Given the description of an element on the screen output the (x, y) to click on. 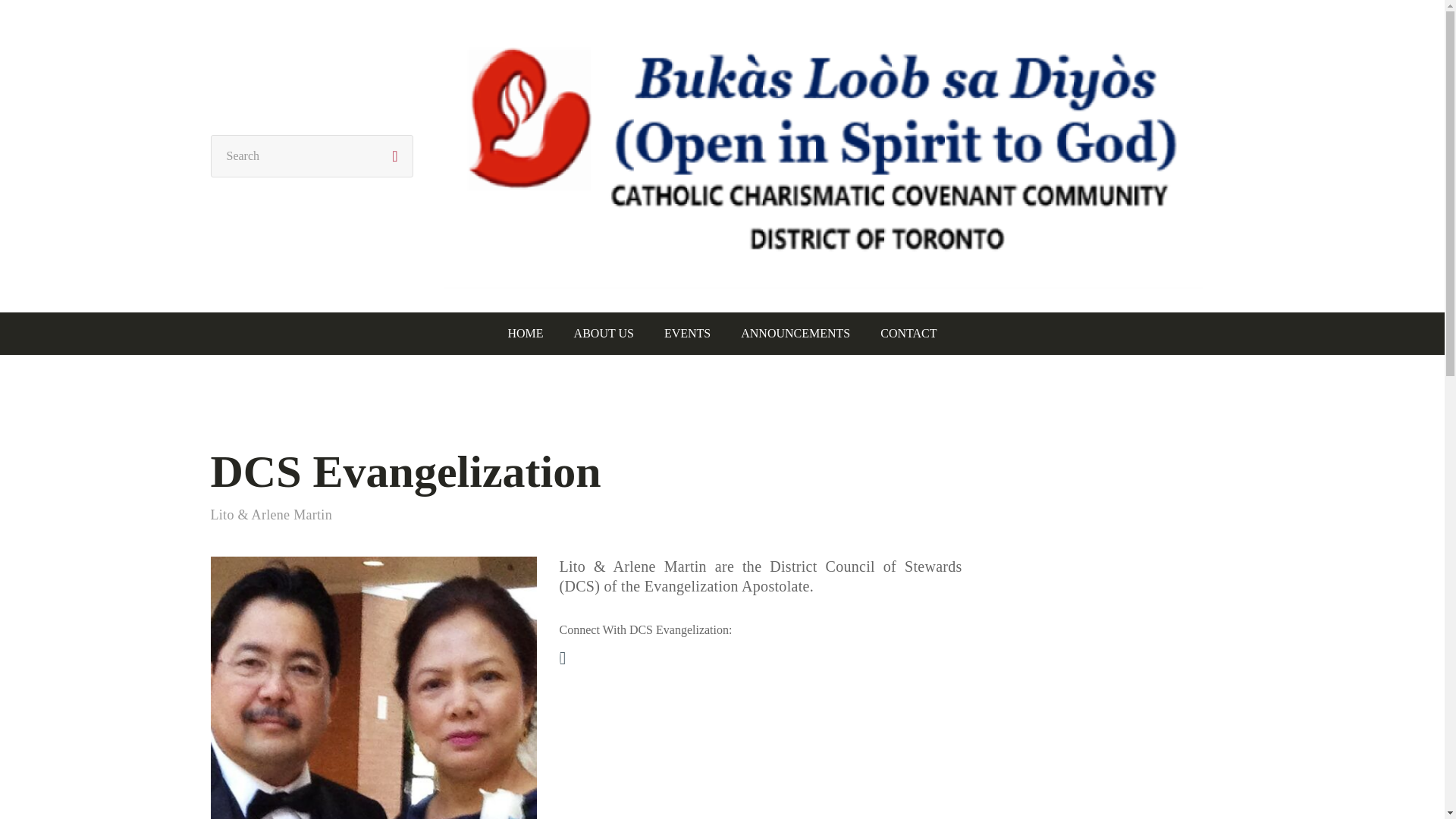
EVENTS (686, 333)
BLD Toronto - Official website (823, 32)
ABOUT US (603, 333)
HOME (525, 333)
ANNOUNCEMENTS (795, 333)
CONTACT (908, 333)
DCS Evangelization (406, 471)
